Given the description of an element on the screen output the (x, y) to click on. 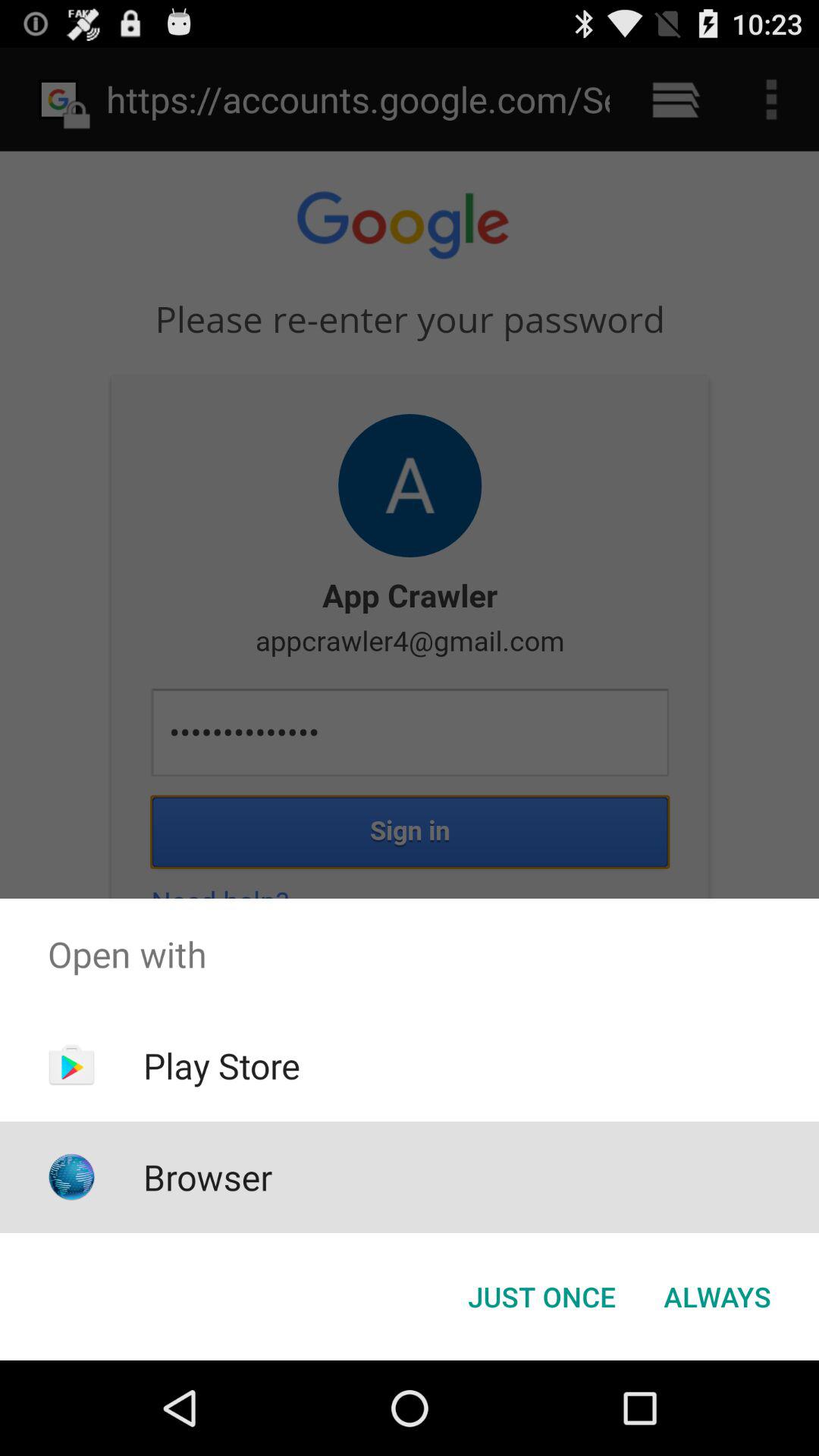
tap the always item (717, 1296)
